Given the description of an element on the screen output the (x, y) to click on. 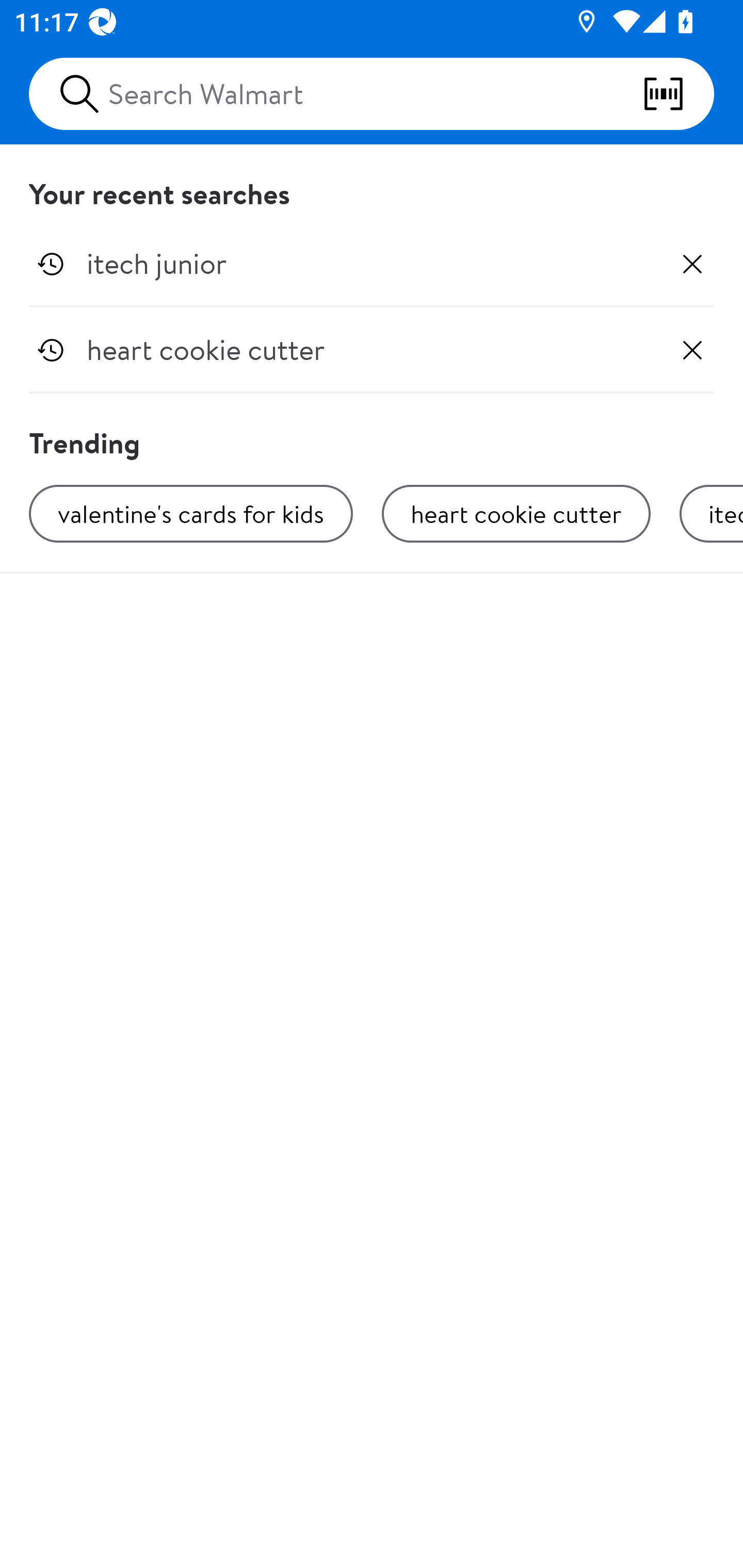
Search Walmart scan barcodes qr codes and more (371, 94)
scan barcodes qr codes and more (677, 94)
Remove recent search for itech junior (692, 264)
Remove recent search for heart cookie cutter (692, 350)
